Given the description of an element on the screen output the (x, y) to click on. 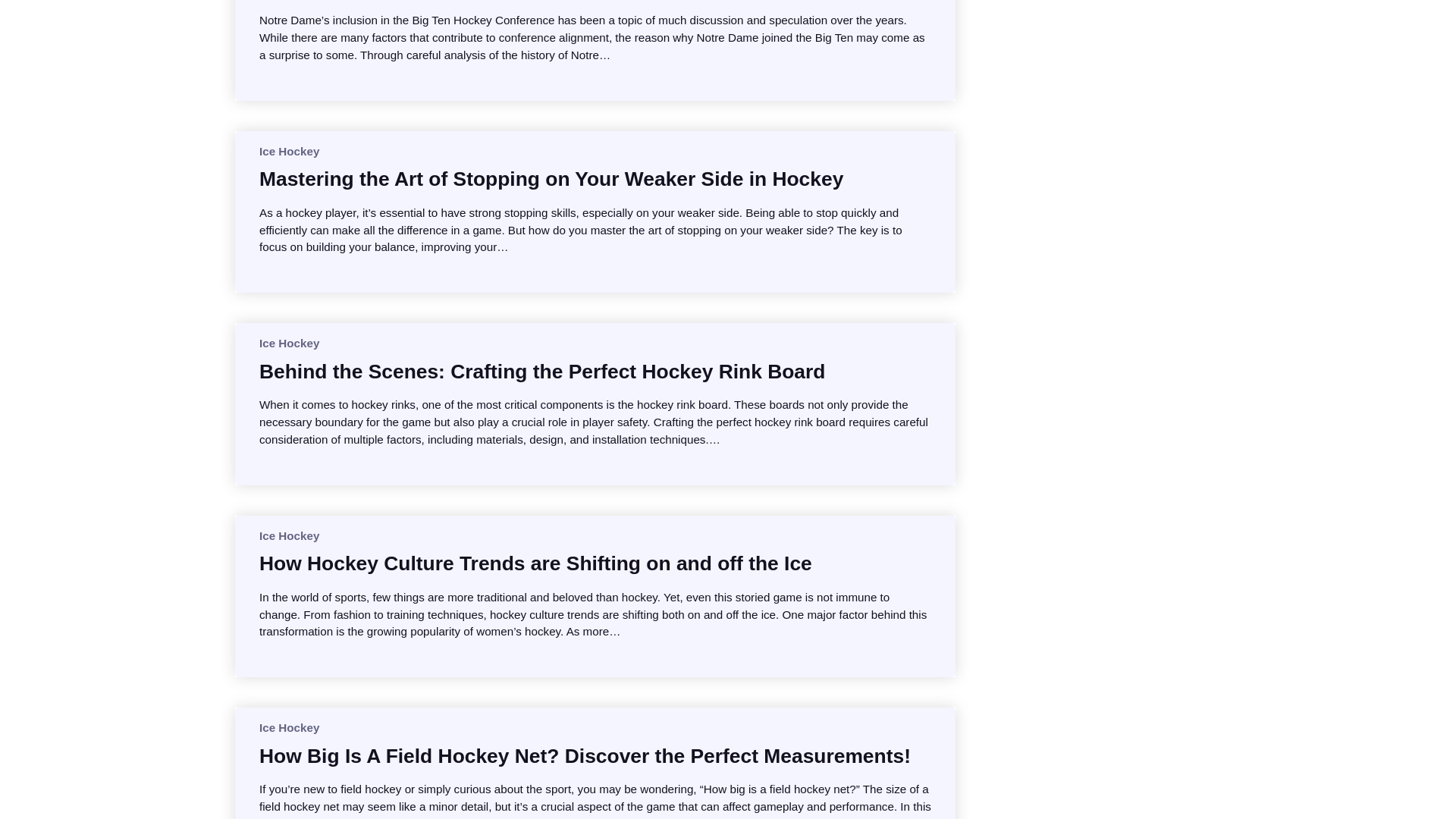
Ice Hockey (288, 342)
Ice Hockey (288, 151)
Mastering the Art of Stopping on Your Weaker Side in Hockey (551, 178)
Ice Hockey (288, 535)
How Hockey Culture Trends are Shifting on and off the Ice (535, 563)
Behind the Scenes: Crafting the Perfect Hockey Rink Board (542, 371)
Ice Hockey (288, 727)
